Given the description of an element on the screen output the (x, y) to click on. 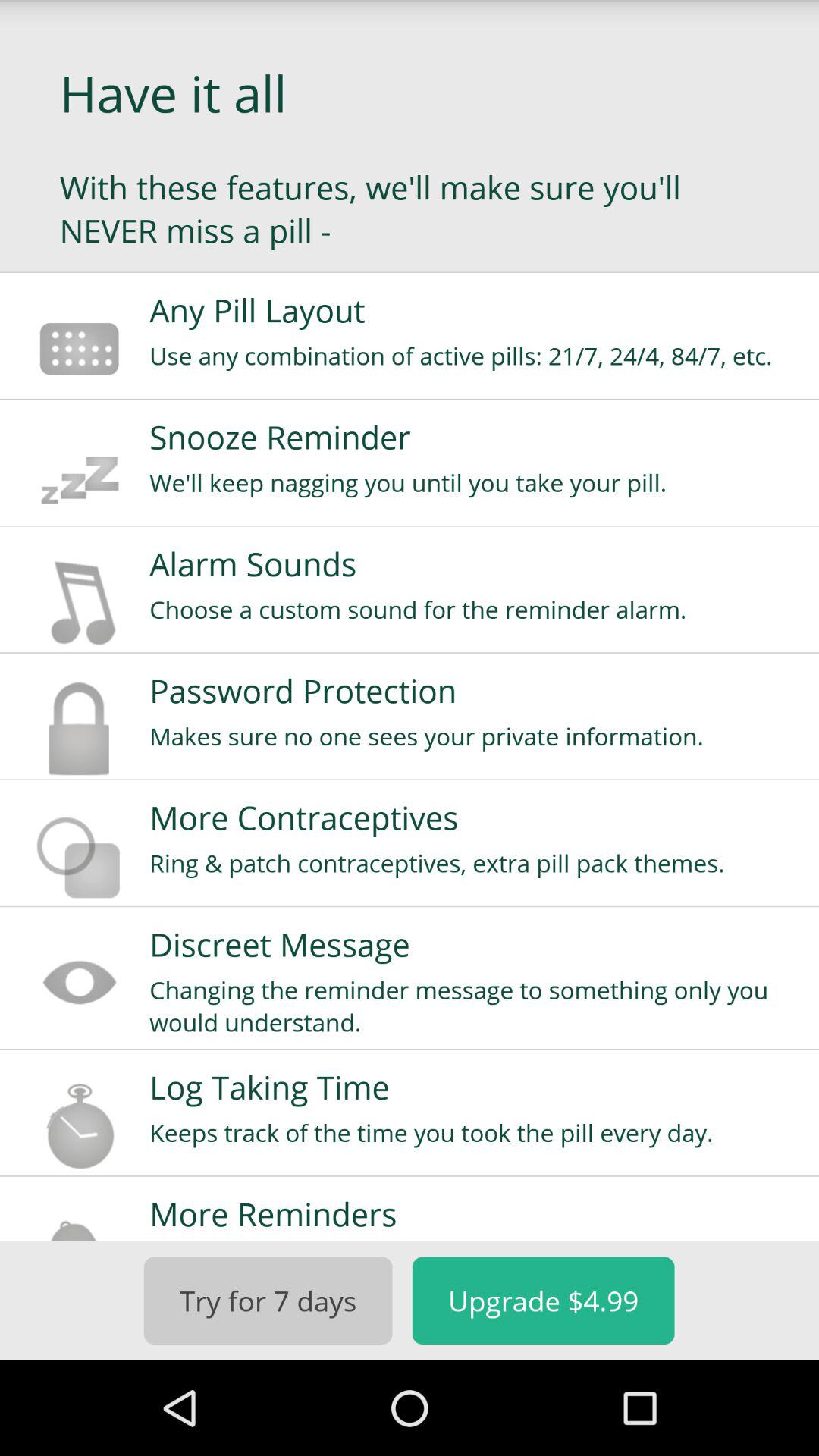
choose the app below the log taking time item (474, 1132)
